Given the description of an element on the screen output the (x, y) to click on. 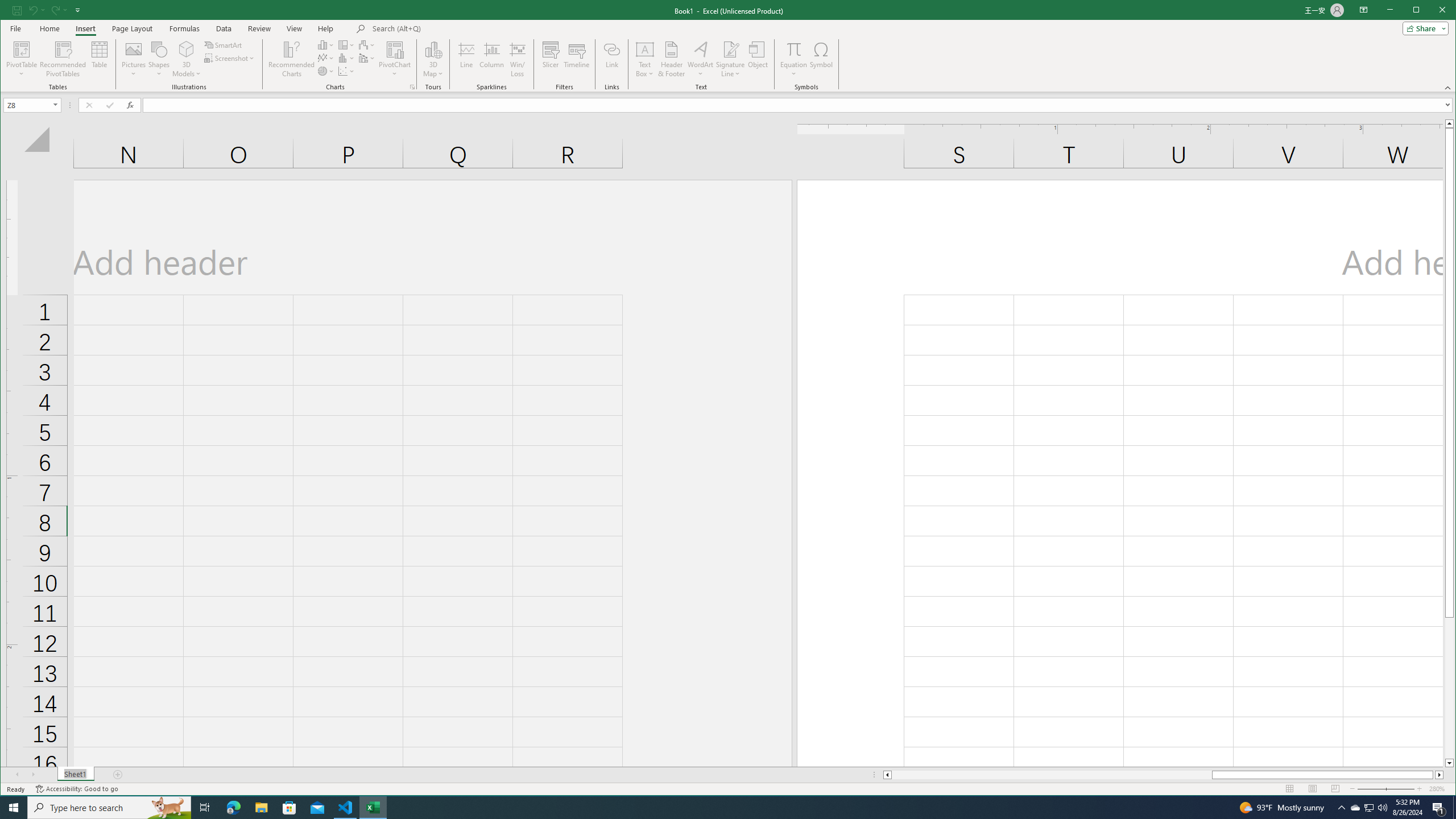
SmartArt... (224, 44)
Insert Statistic Chart (346, 57)
PivotTable (22, 48)
Type here to search (108, 807)
Search highlights icon opens search home window (167, 807)
PivotChart (394, 48)
Shapes (159, 59)
Table (99, 59)
